Given the description of an element on the screen output the (x, y) to click on. 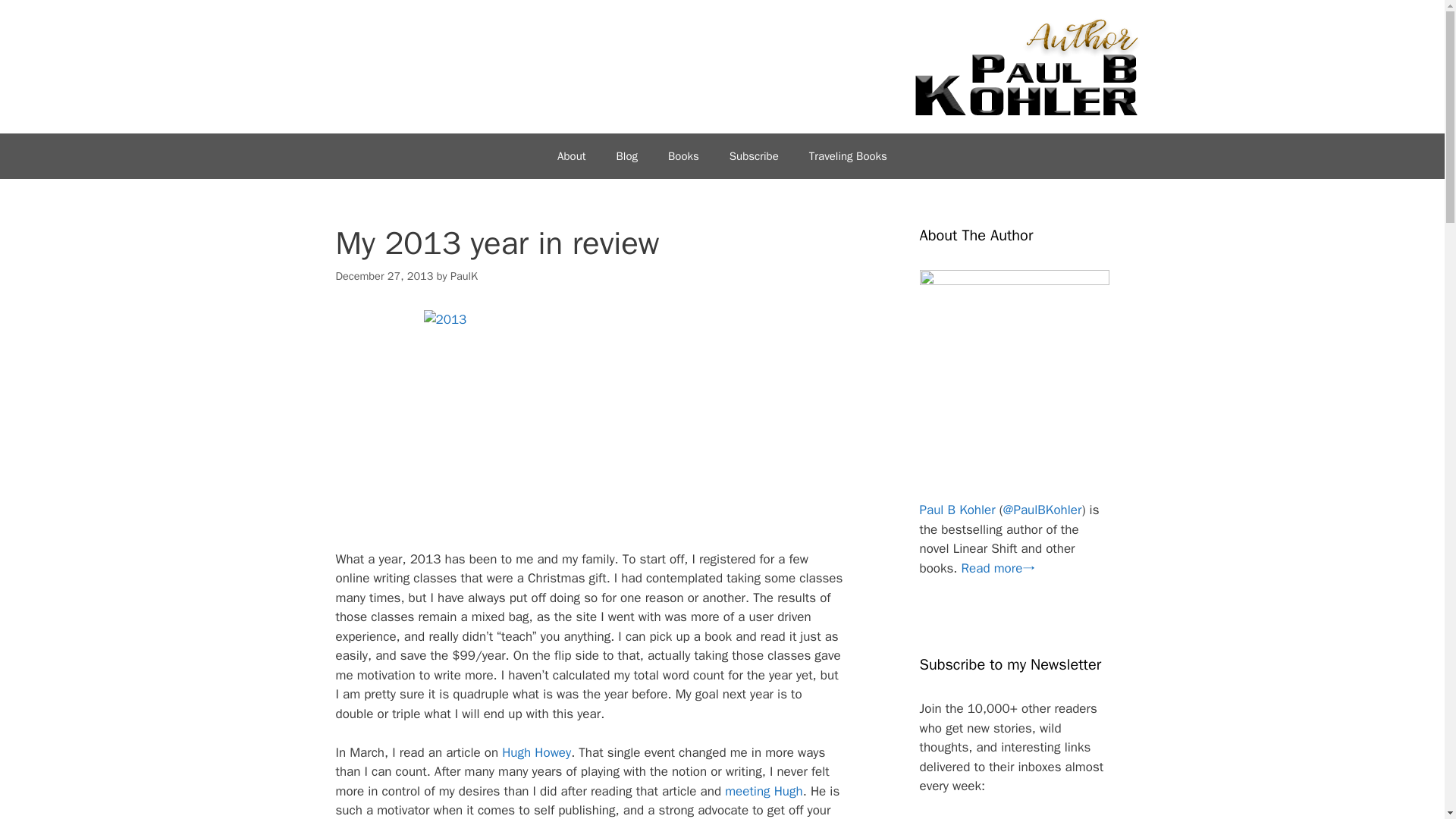
Subscribe (753, 156)
Blog (626, 156)
meeting Hugh (761, 790)
About (570, 156)
Traveling Books (847, 156)
Hugh Howey (536, 752)
View all posts by PaulK (463, 275)
Books (683, 156)
PaulK (463, 275)
